Given the description of an element on the screen output the (x, y) to click on. 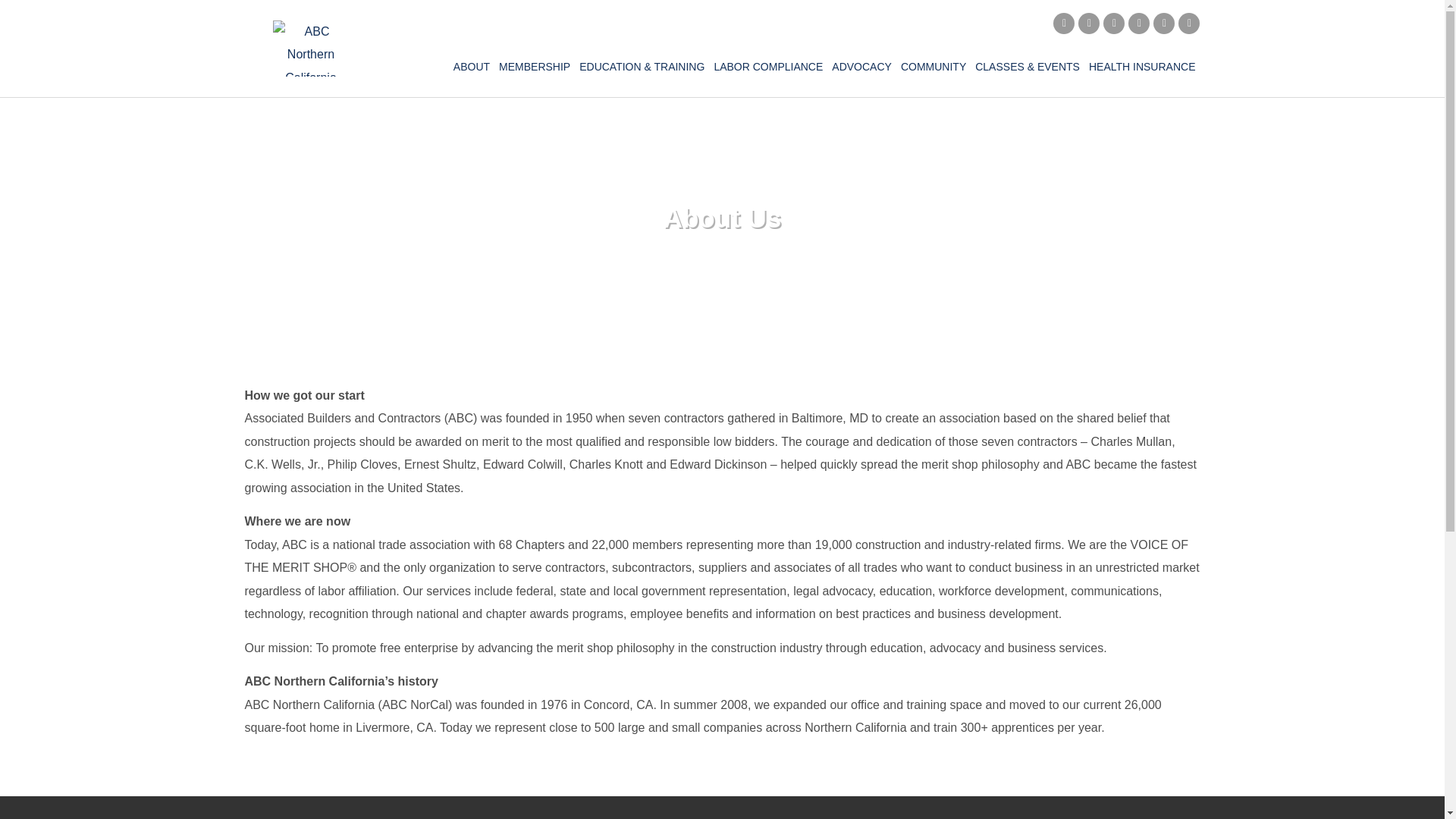
MEMBERSHIP (535, 66)
ABOUT (471, 66)
